Given the description of an element on the screen output the (x, y) to click on. 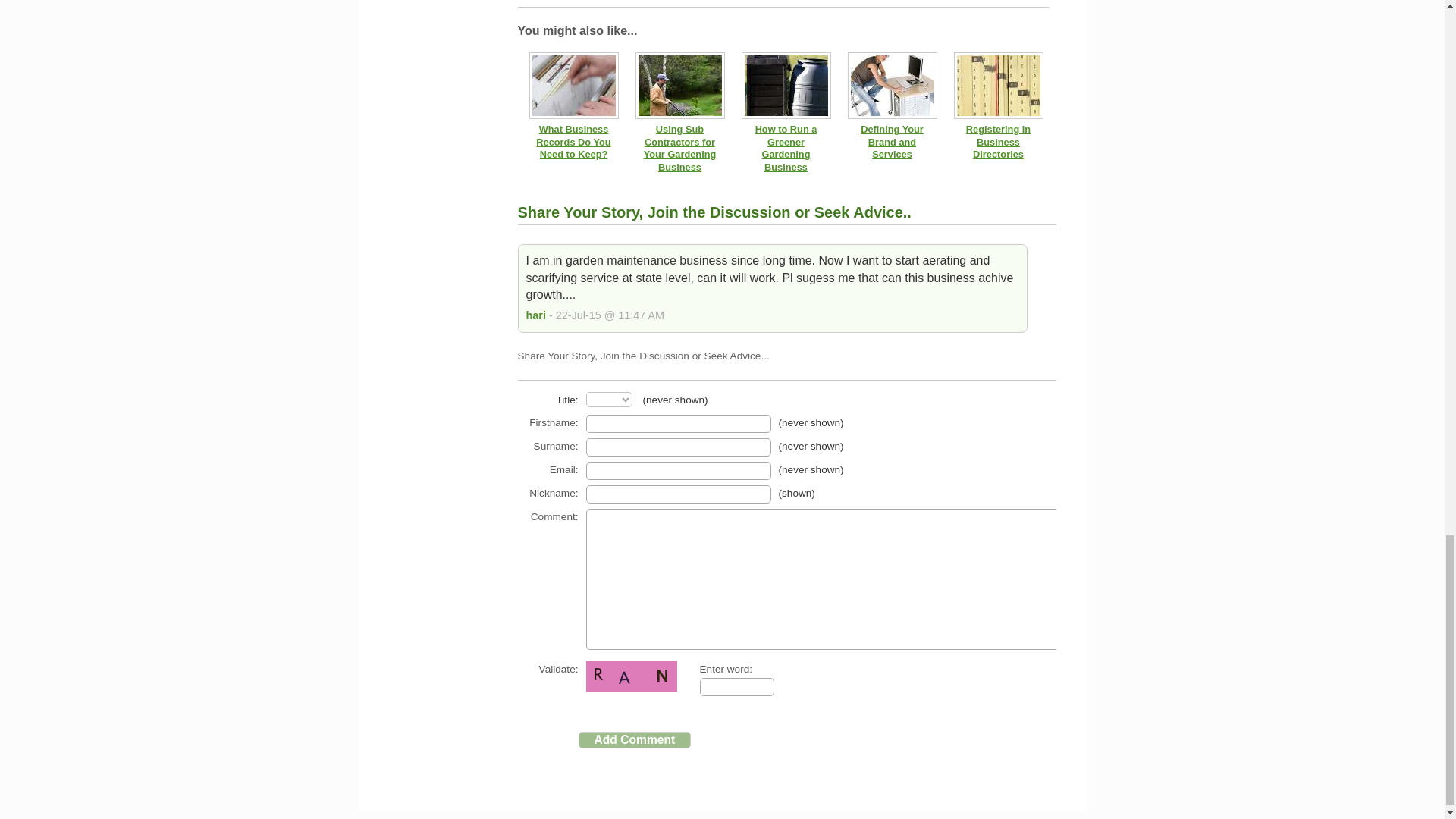
Add Comment (634, 740)
How to Run a Greener Gardening Business (785, 147)
Using Sub Contractors for Your Gardening Business (679, 147)
Defining Your Brand and Services (891, 141)
What Business Records Do You Need to Keep? (572, 141)
Add Comment (634, 740)
Registering in Business Directories (998, 141)
